Given the description of an element on the screen output the (x, y) to click on. 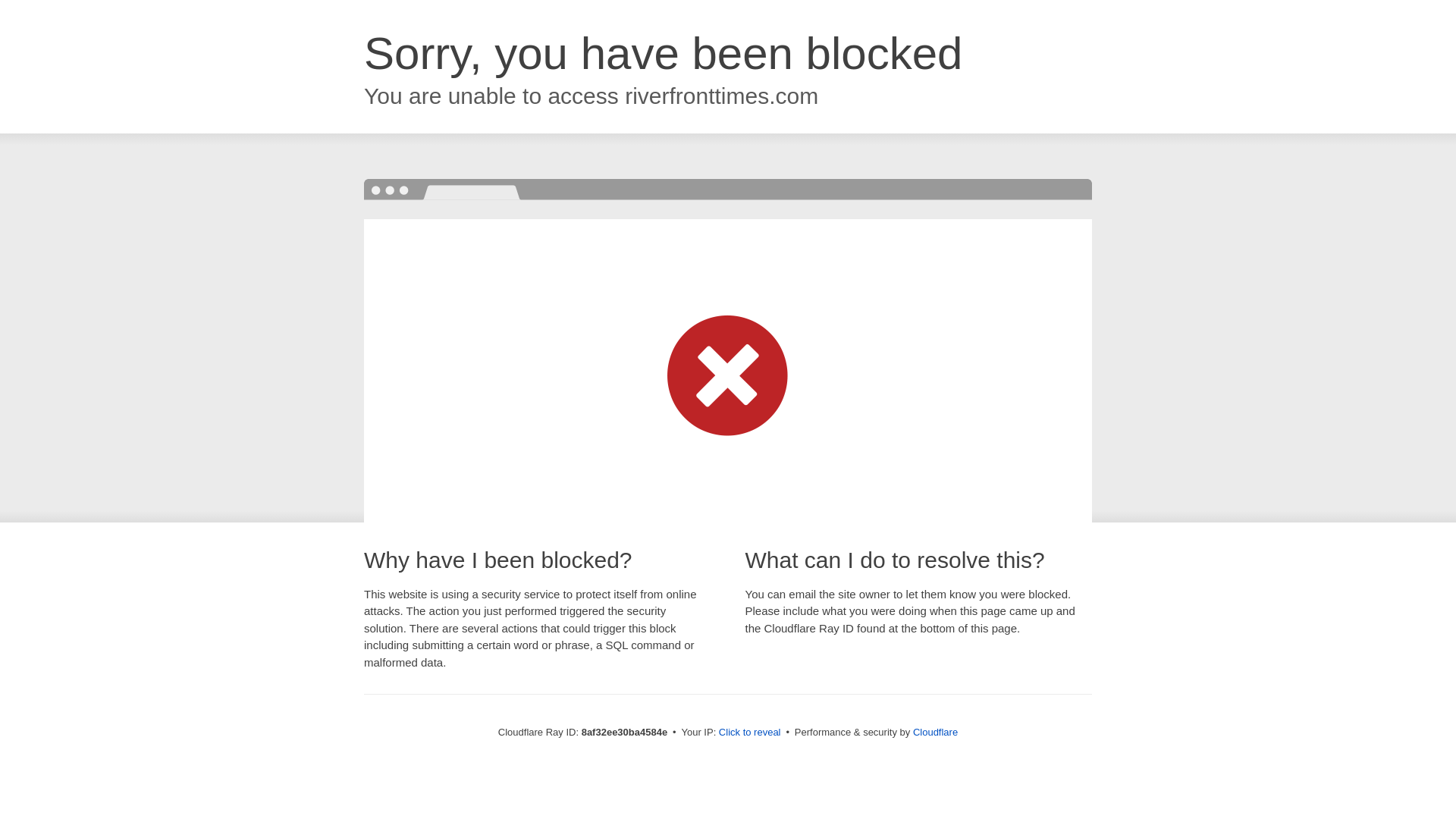
Click to reveal (749, 732)
Cloudflare (935, 731)
